Given the description of an element on the screen output the (x, y) to click on. 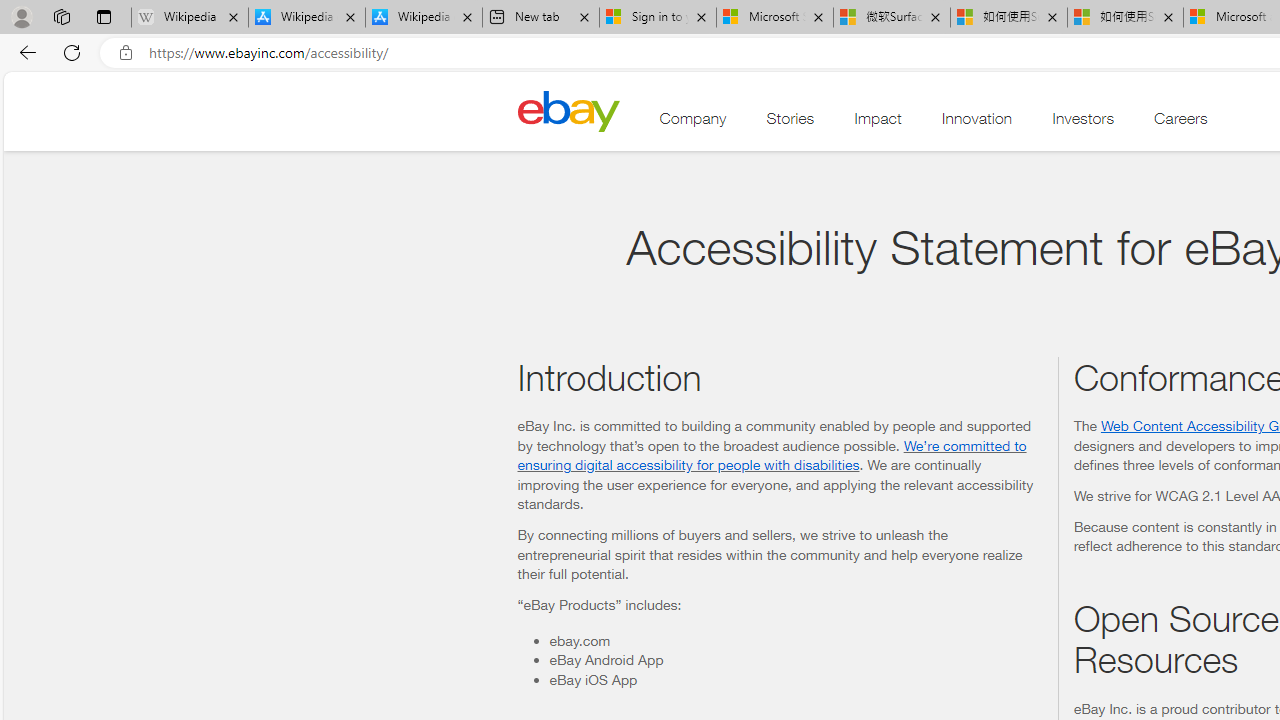
Class: desktop (568, 110)
